Given the description of an element on the screen output the (x, y) to click on. 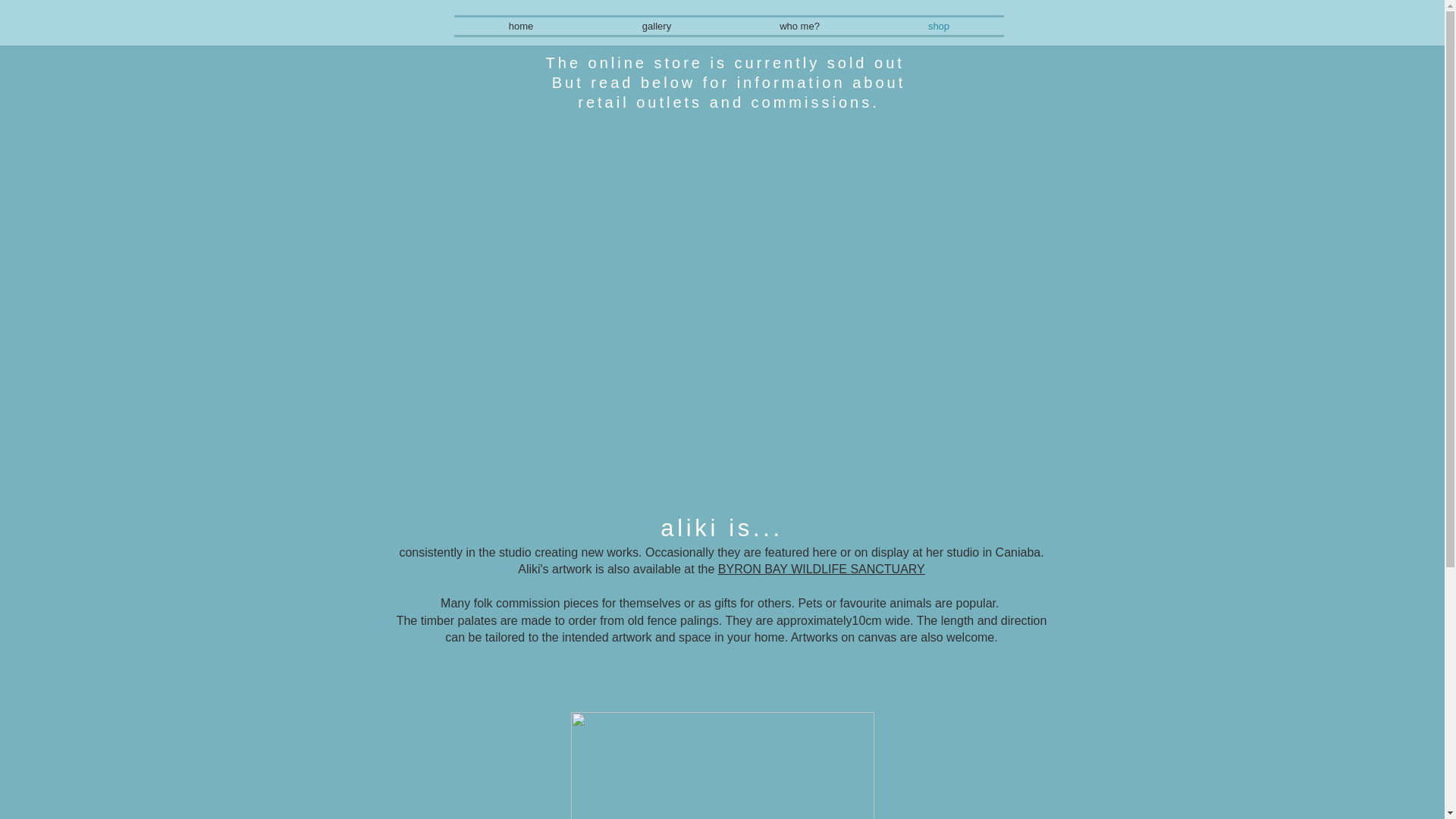
home (520, 26)
who me? (799, 26)
gallery (656, 26)
20230626-032A-00101.JPG (721, 765)
shop (938, 26)
BYRON BAY WILDLIFE SANCTUARY (820, 568)
